Given the description of an element on the screen output the (x, y) to click on. 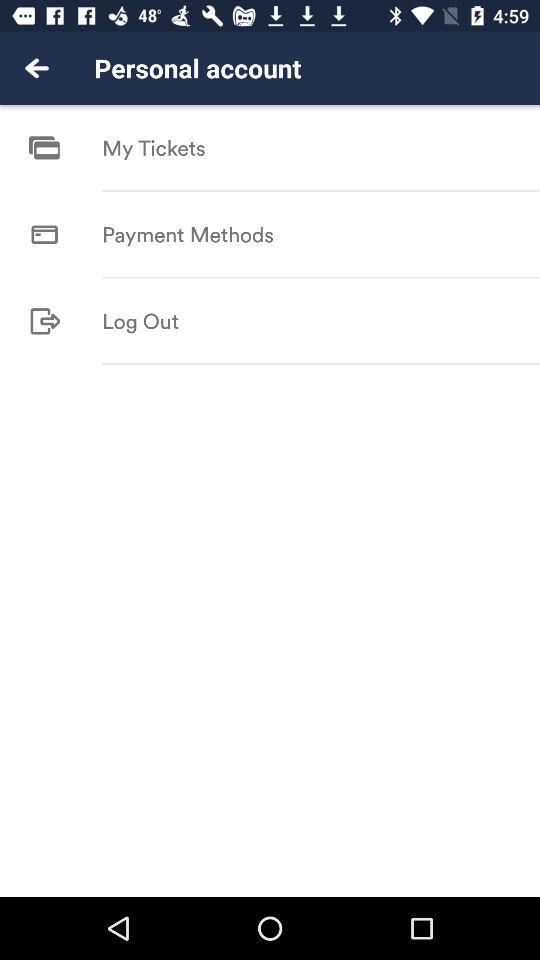
press my tickets (153, 147)
